Given the description of an element on the screen output the (x, y) to click on. 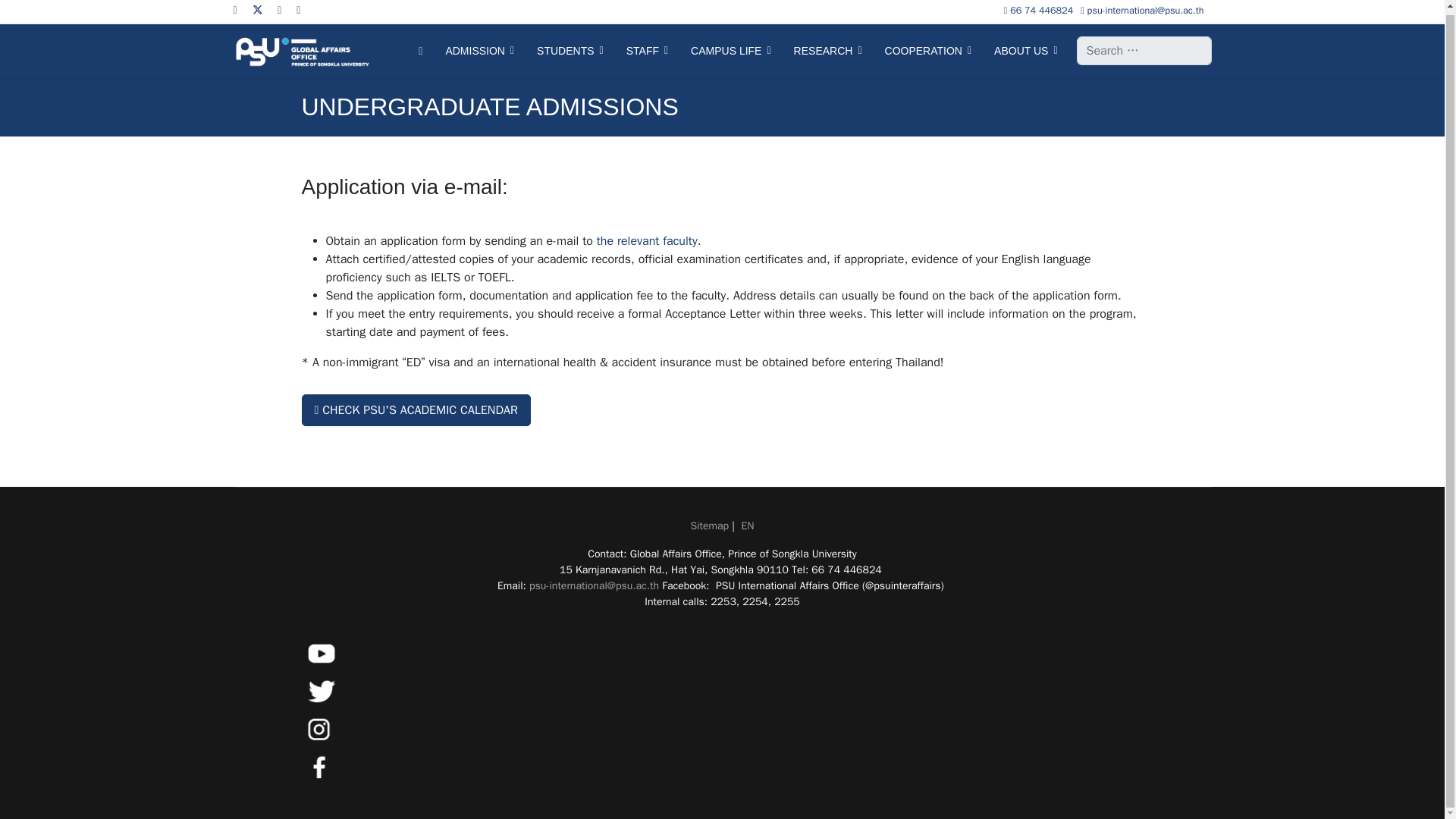
66 74 446824 (1041, 10)
ADMISSION (479, 50)
STAFF (646, 50)
STUDENTS (569, 50)
